Given the description of an element on the screen output the (x, y) to click on. 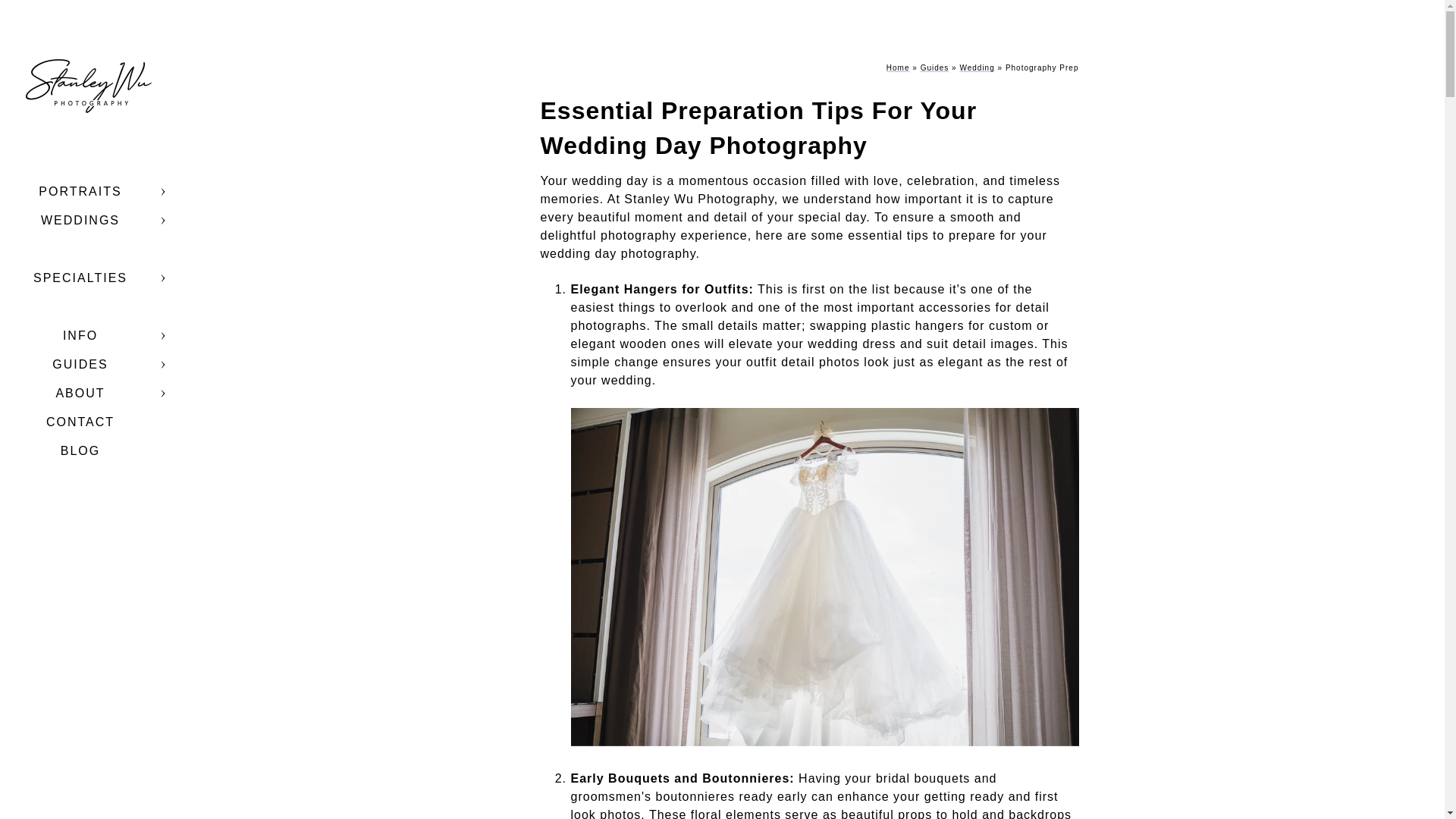
INFO (79, 335)
Stanley Wu Photography (87, 87)
Your Essential Guides for Unforgettable Photo Sessions (934, 67)
GUIDES (79, 364)
CONTACT (80, 421)
BLOG (80, 450)
SPECIALTIES (80, 277)
WEDDINGS (79, 219)
PORTRAITS (79, 191)
ABOUT (79, 392)
Wedding Prep (976, 67)
